Given the description of an element on the screen output the (x, y) to click on. 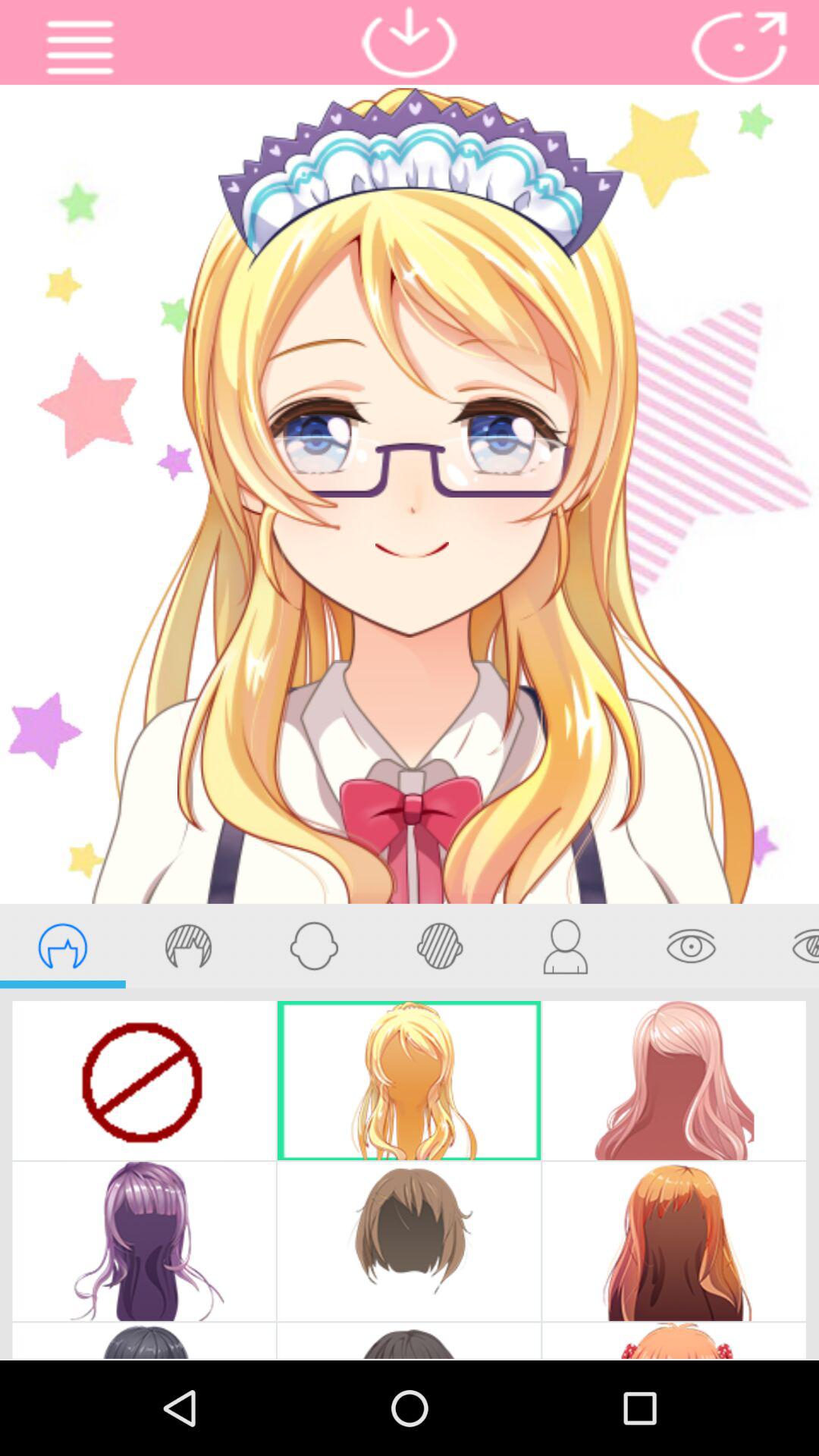
hairstyles (62, 945)
